Given the description of an element on the screen output the (x, y) to click on. 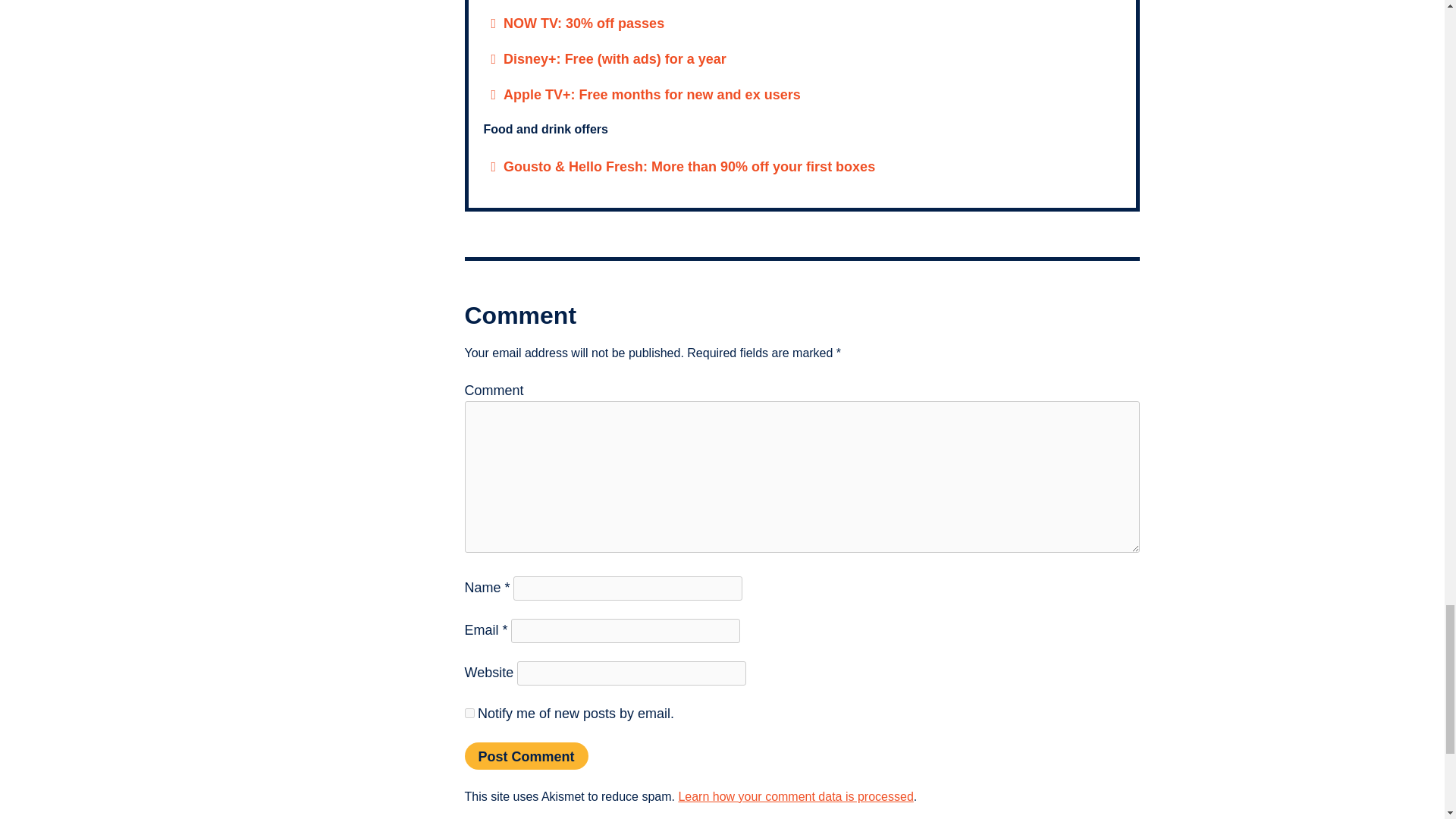
Post Comment (526, 755)
subscribe (469, 713)
